Given the description of an element on the screen output the (x, y) to click on. 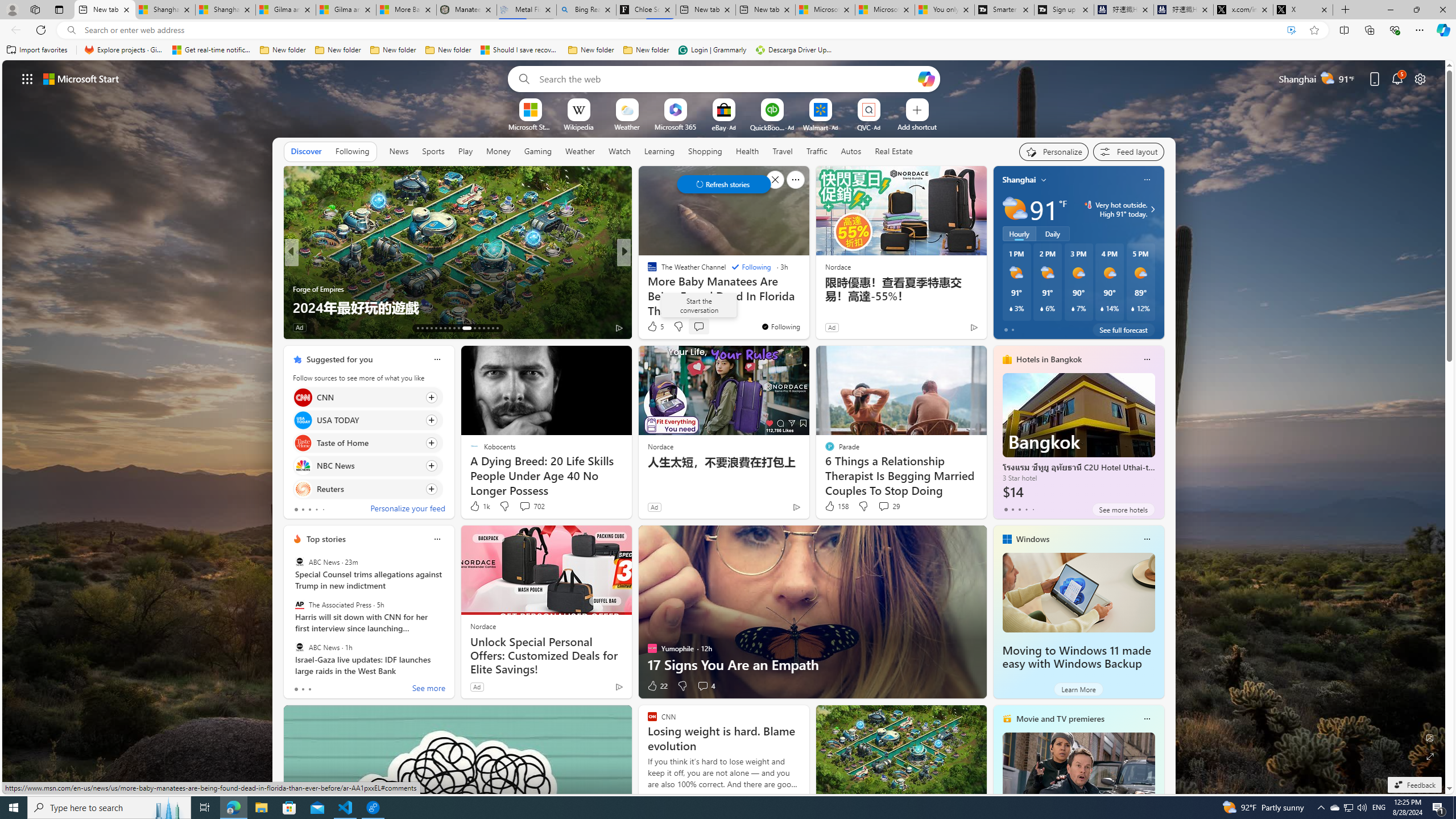
Money (498, 151)
Watch (619, 151)
158 Like (835, 505)
Autos (851, 151)
ETNT Mind+Body (647, 270)
Personalize your feed" (1054, 151)
Dislike (682, 685)
CNN (302, 397)
Gaming (537, 151)
AutomationID: tab-22 (458, 328)
AutomationID: tab-15 (426, 328)
tab-4 (1032, 509)
